Given the description of an element on the screen output the (x, y) to click on. 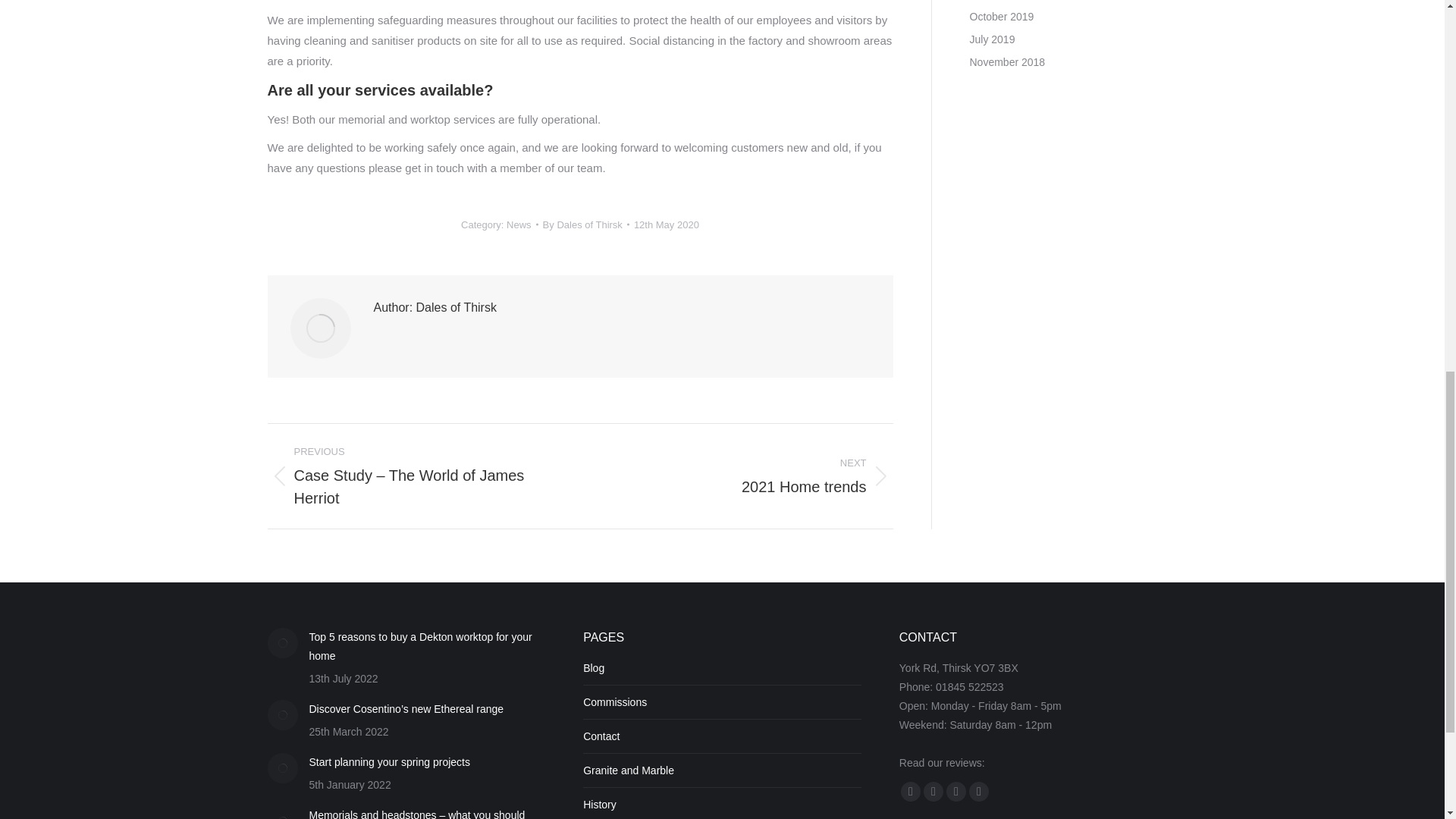
Instagram page opens in new window (978, 790)
News (518, 224)
12th May 2020 (665, 223)
Facebook page opens in new window (910, 790)
X page opens in new window (933, 790)
3:34 pm (665, 223)
View all posts by Dales of Thirsk (747, 476)
By Dales of Thirsk (585, 223)
Linkedin page opens in new window (585, 223)
